Given the description of an element on the screen output the (x, y) to click on. 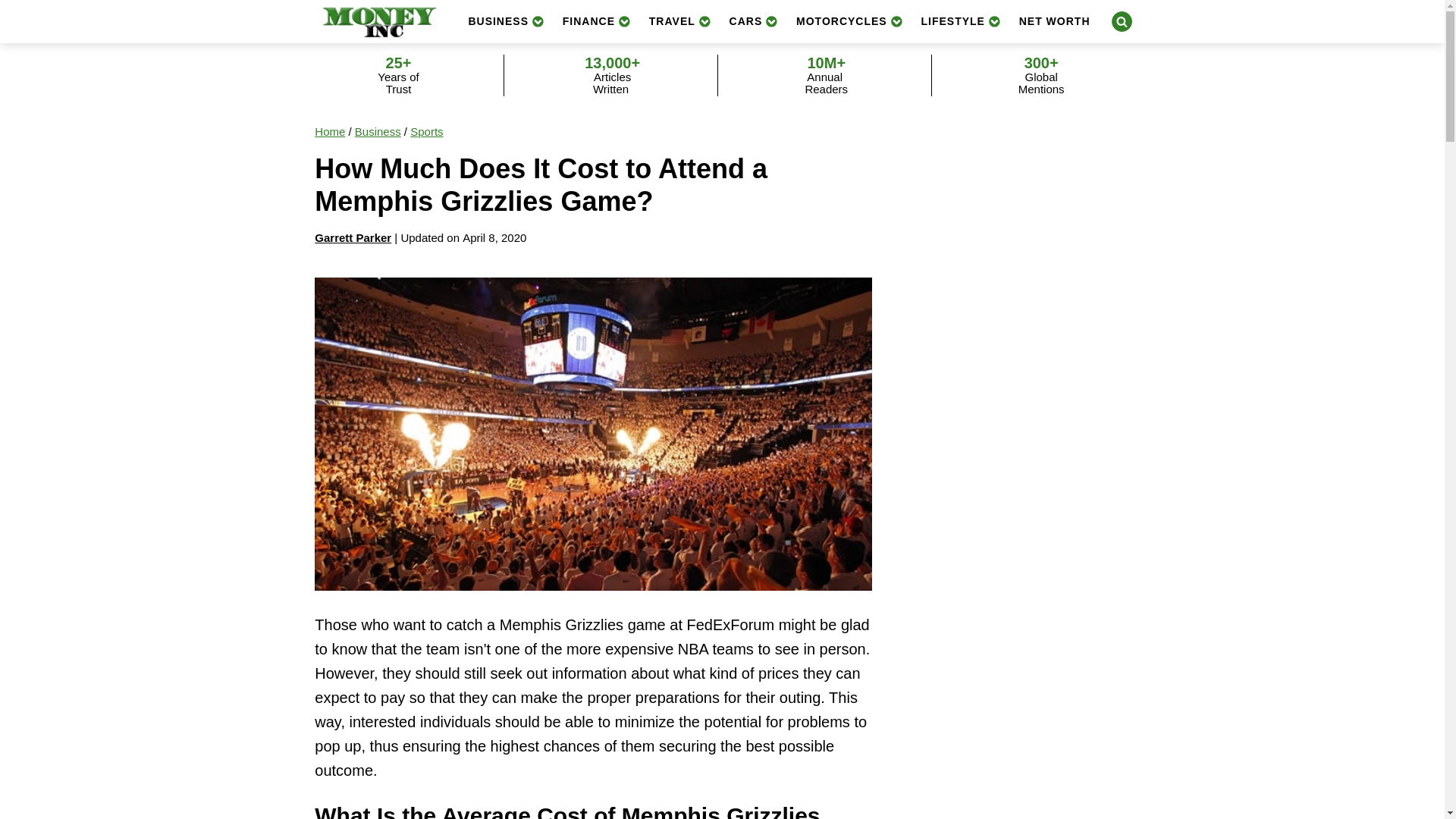
FINANCE (596, 21)
BUSINESS (505, 21)
TRAVEL (680, 21)
CARS (753, 21)
